Given the description of an element on the screen output the (x, y) to click on. 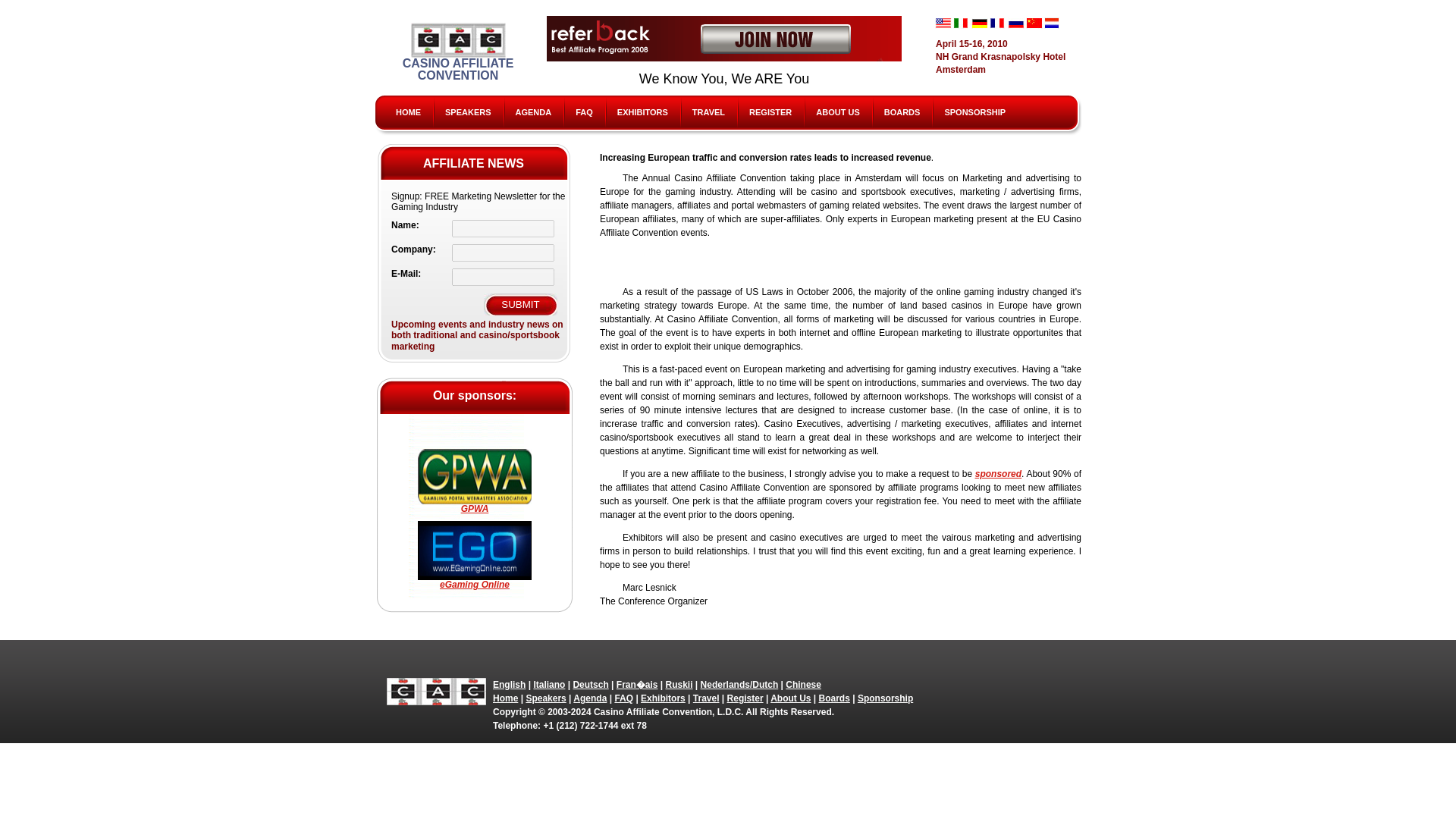
Register (744, 697)
Deutsch (590, 684)
Language 2 (548, 684)
TRAVEL (707, 112)
Chinese (1033, 22)
Language 3 (590, 684)
BOARDS (902, 112)
Agenda (590, 697)
Speakers (545, 697)
Italiano (548, 684)
